Given the description of an element on the screen output the (x, y) to click on. 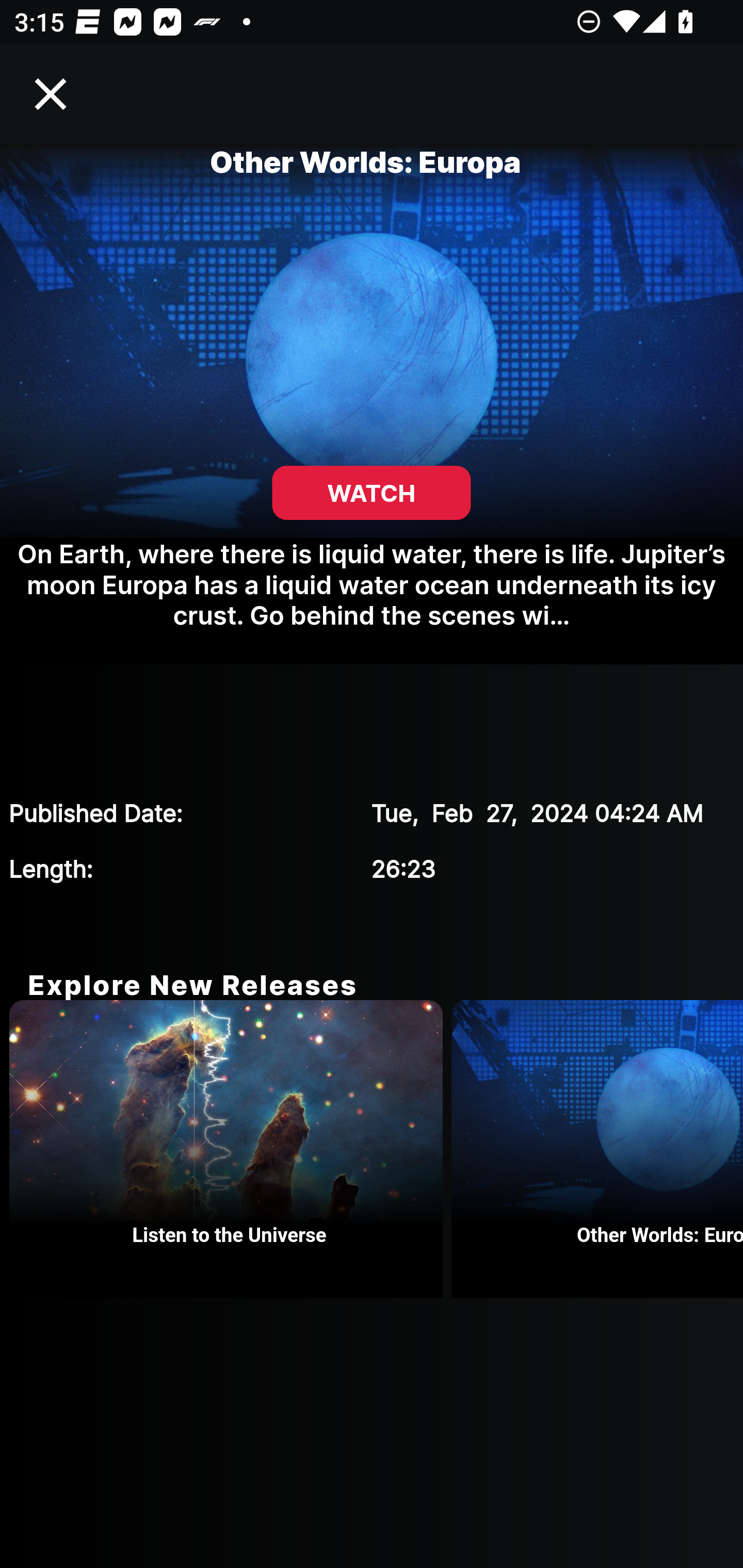
WATCH (371, 492)
Listen to the Universe (229, 1149)
Other Worlds: Europa (597, 1149)
